Given the description of an element on the screen output the (x, y) to click on. 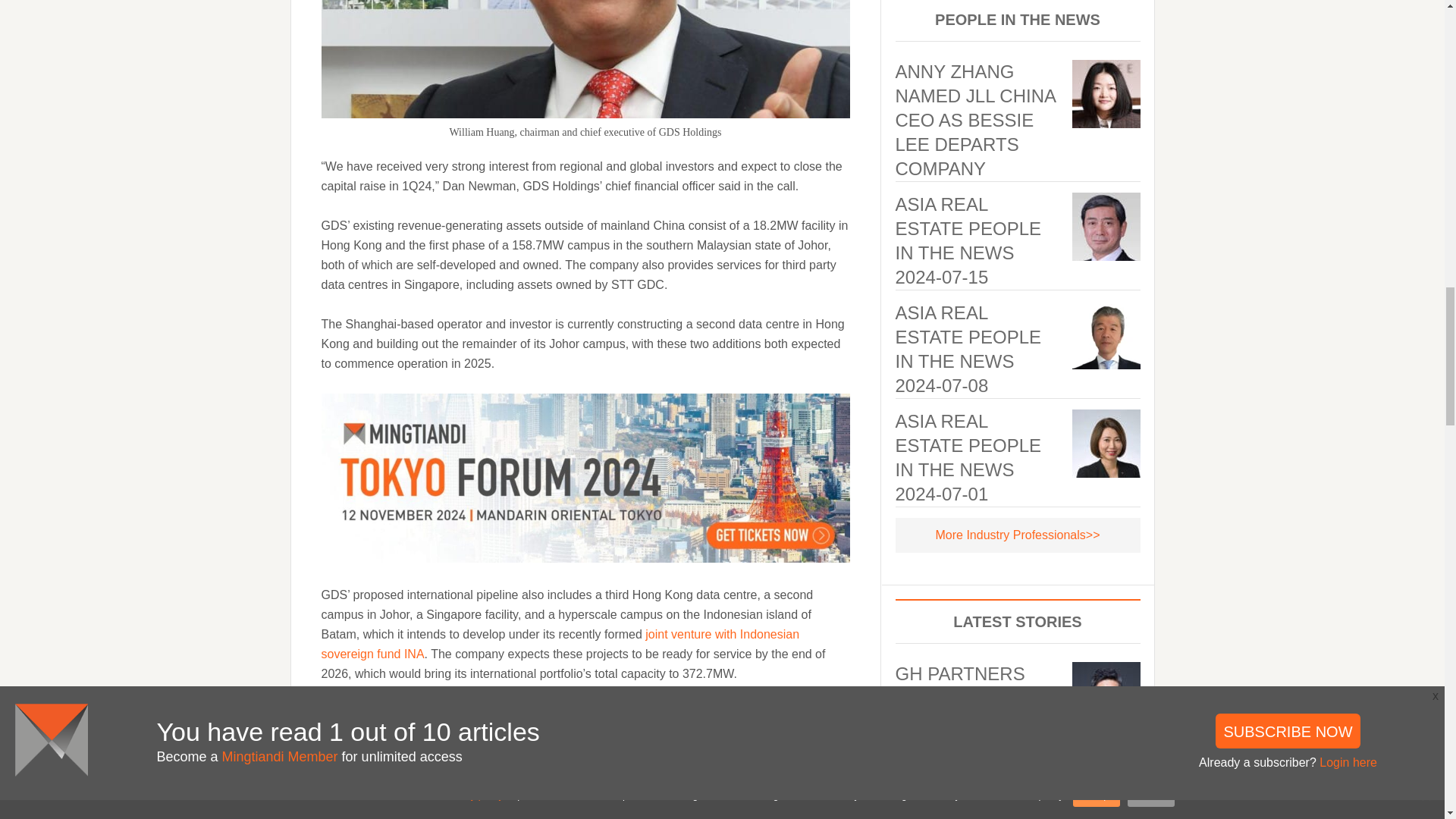
Anny Zhang Named JLL China CEO as Bessie Lee Departs Company (974, 120)
Asia Real Estate People in the News 2024-07-15 (968, 240)
Asia Real Estate People in the News 2024-07-08 (968, 348)
